Given the description of an element on the screen output the (x, y) to click on. 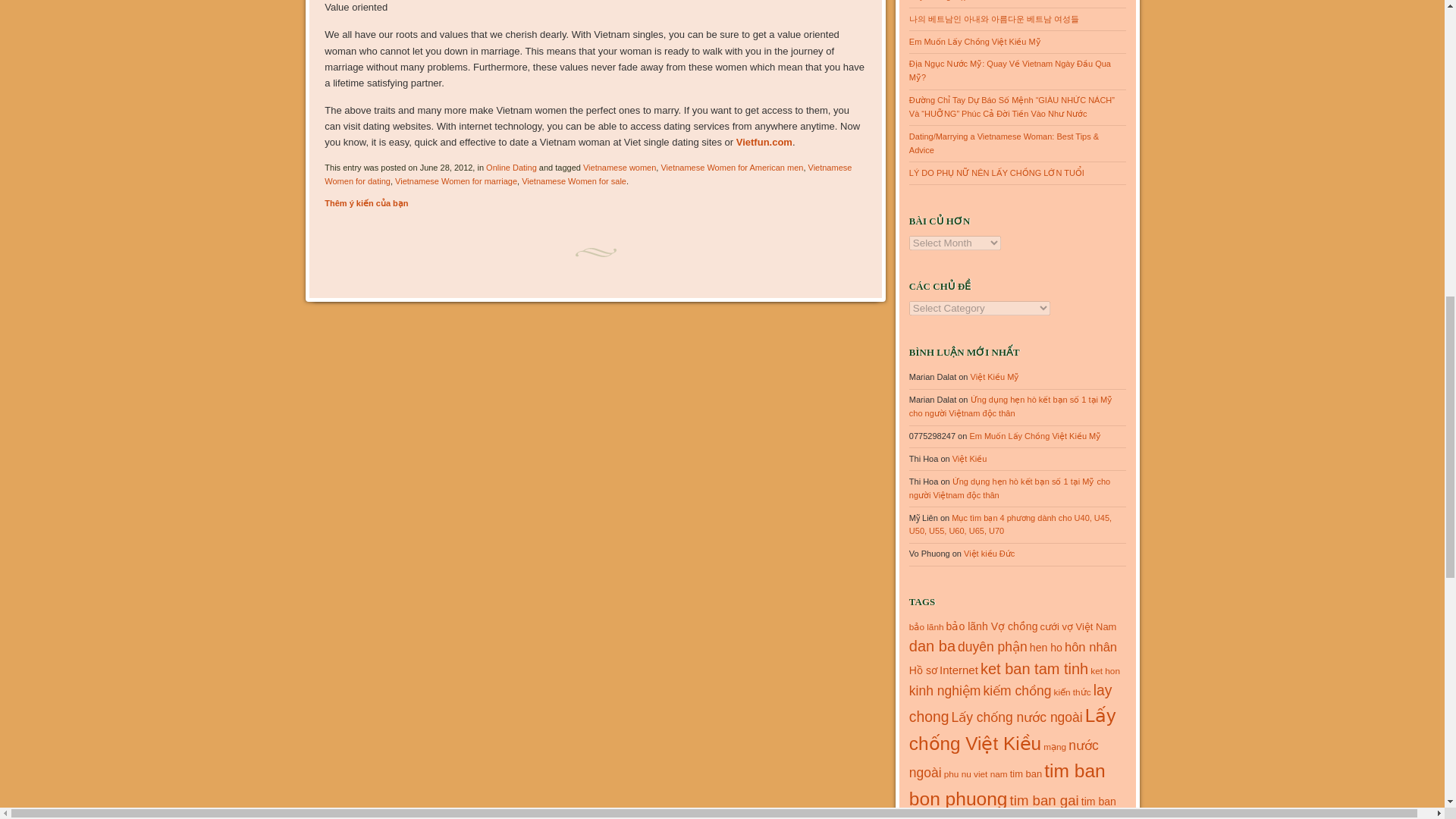
Vietfun.com (764, 142)
